Given the description of an element on the screen output the (x, y) to click on. 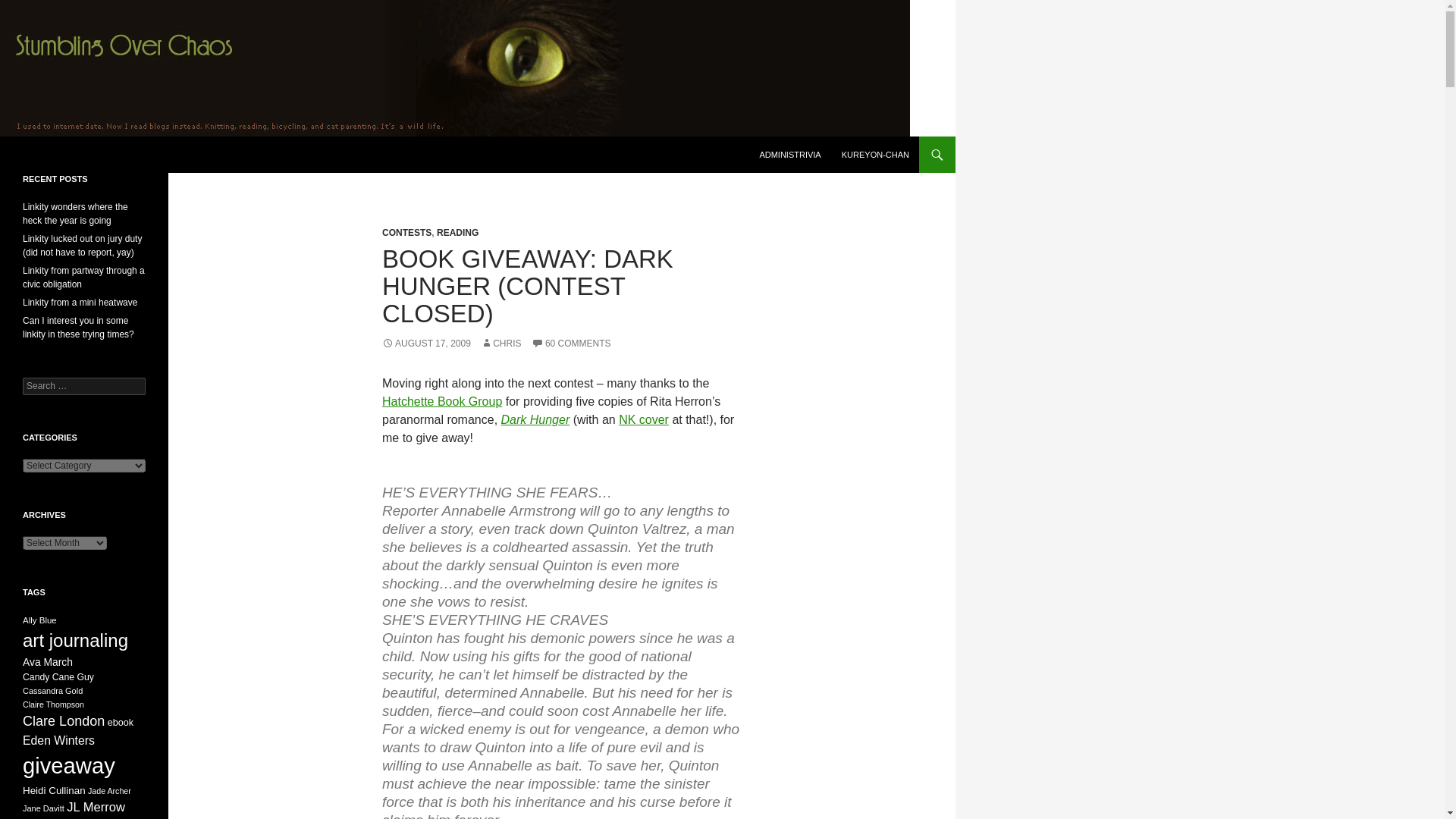
NK cover (643, 419)
ADMINISTRIVIA (789, 154)
Hatchette Book Group (441, 400)
60 COMMENTS (571, 343)
KUREYON-CHAN (875, 154)
READING (457, 232)
Stumbling Over Chaos (96, 154)
Dark Hunger (535, 419)
AUGUST 17, 2009 (425, 343)
CONTESTS (405, 232)
CHRIS (500, 343)
